Given the description of an element on the screen output the (x, y) to click on. 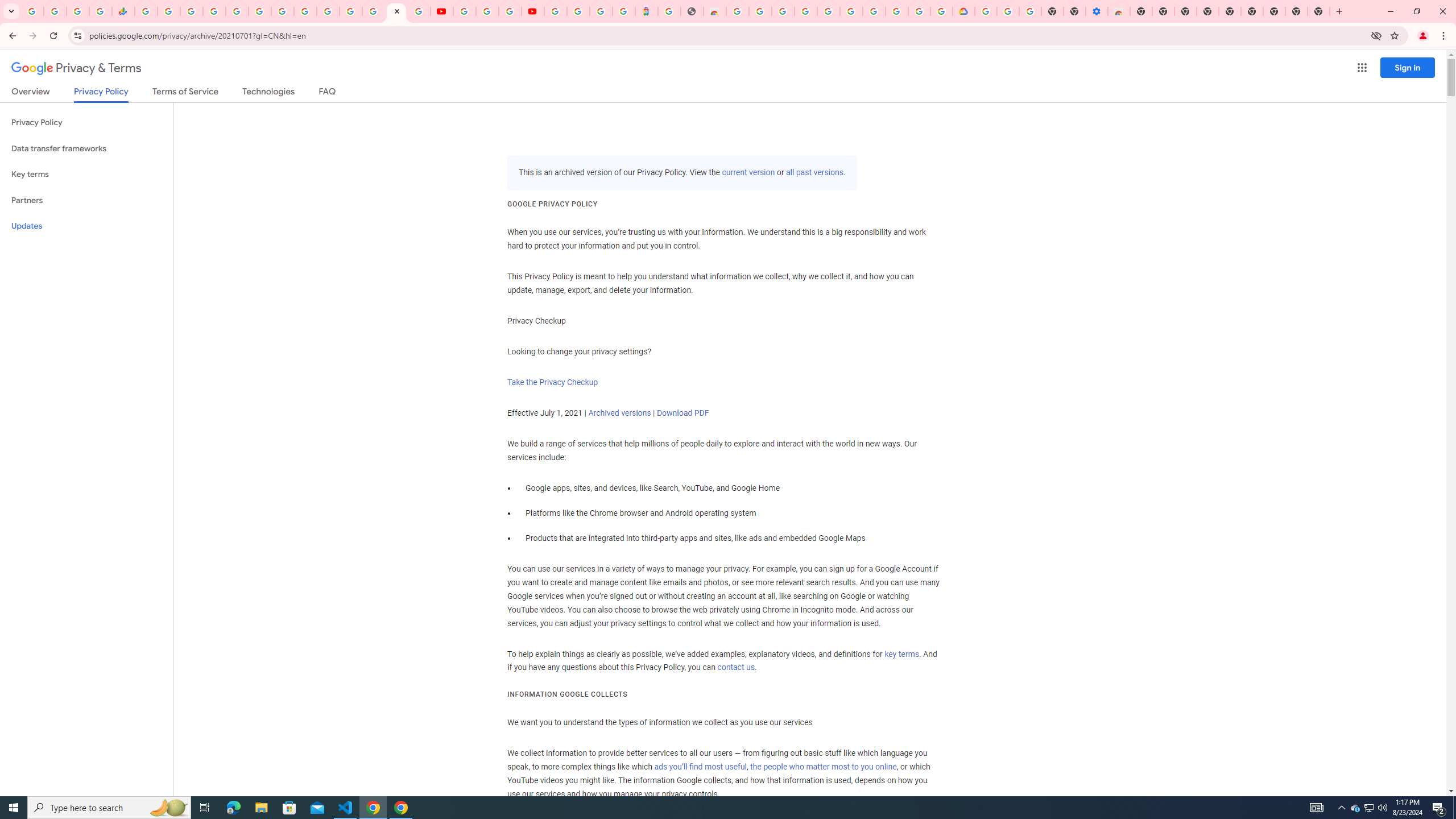
YouTube (464, 11)
Download PDF (682, 412)
Google Account Help (874, 11)
contact us (735, 667)
Sign in - Google Accounts (828, 11)
Sign in - Google Accounts (985, 11)
key terms (900, 653)
Google Account Help (1008, 11)
Browse the Google Chrome Community - Google Chrome Community (942, 11)
Ad Settings (805, 11)
